Given the description of an element on the screen output the (x, y) to click on. 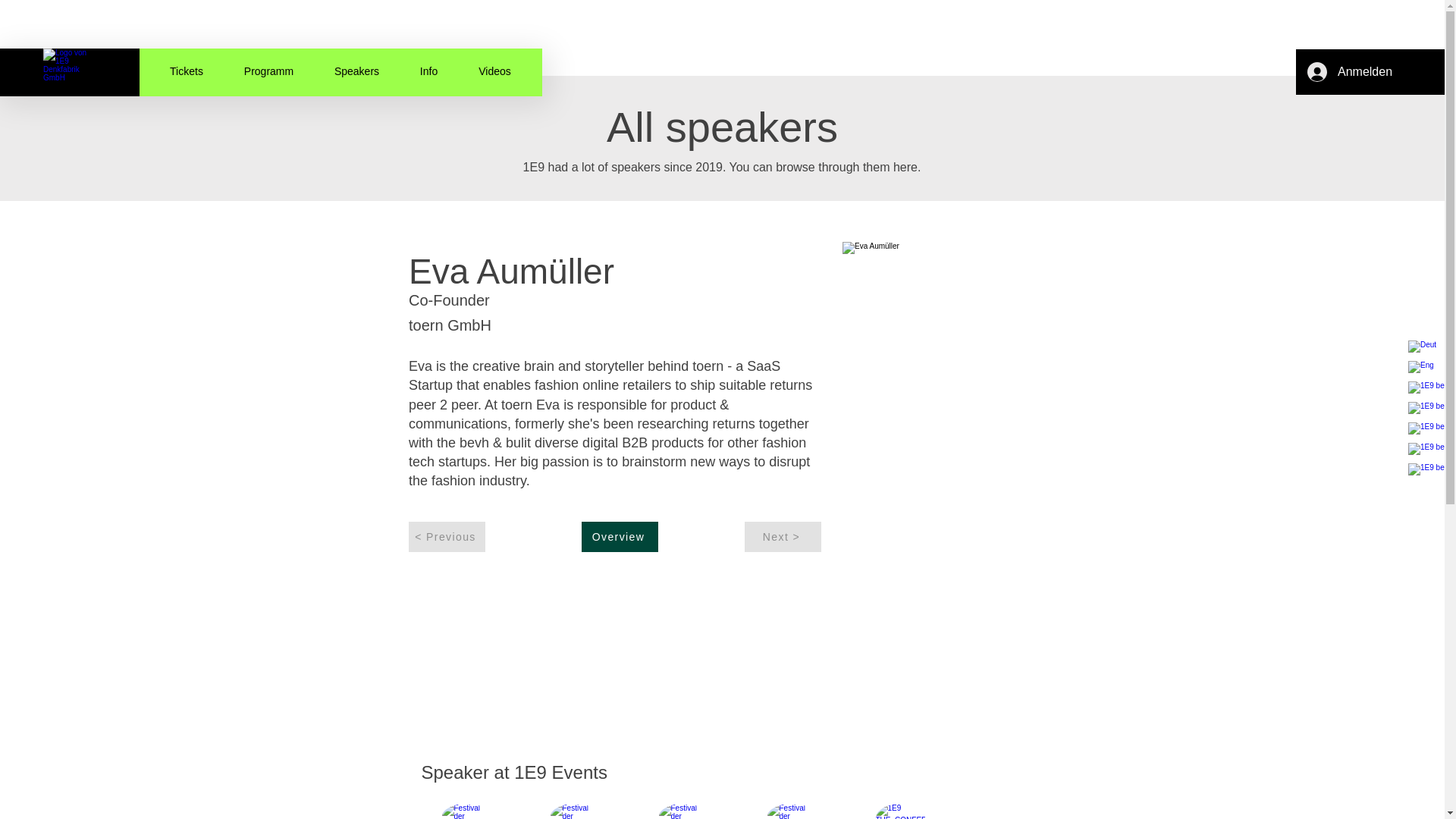
Festival der Zukunft 2025 (465, 811)
Festival der Zukunft 2023 (682, 811)
Anmelden (1350, 71)
Videos (494, 71)
Overview (619, 536)
Tickets (186, 71)
Programm (269, 71)
1E9 Festival der Zukunft 2024 (65, 71)
Info (428, 71)
Festival der Zukunft 2024 (574, 811)
